Given the description of an element on the screen output the (x, y) to click on. 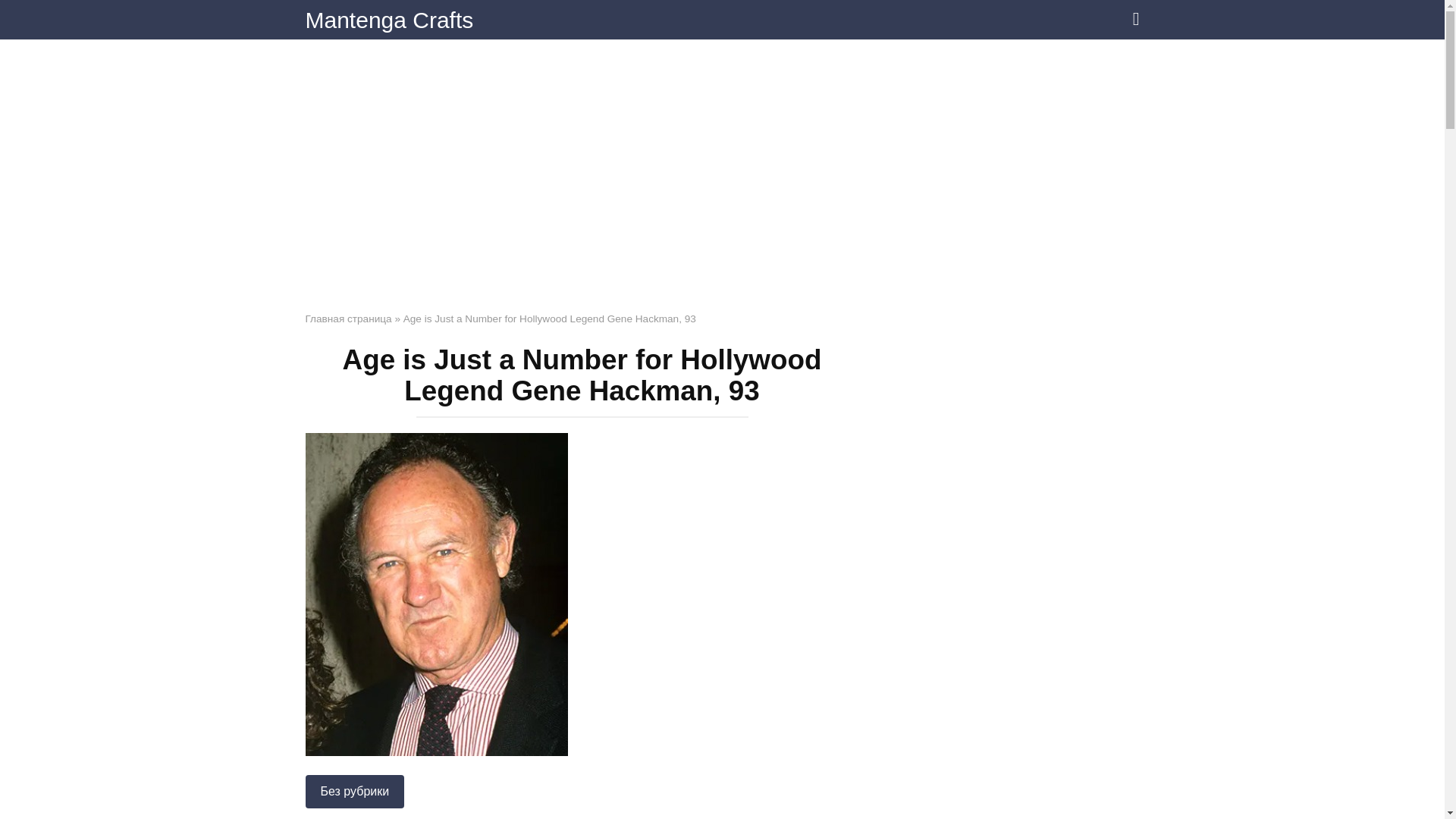
Mantenga Crafts (388, 19)
